Given the description of an element on the screen output the (x, y) to click on. 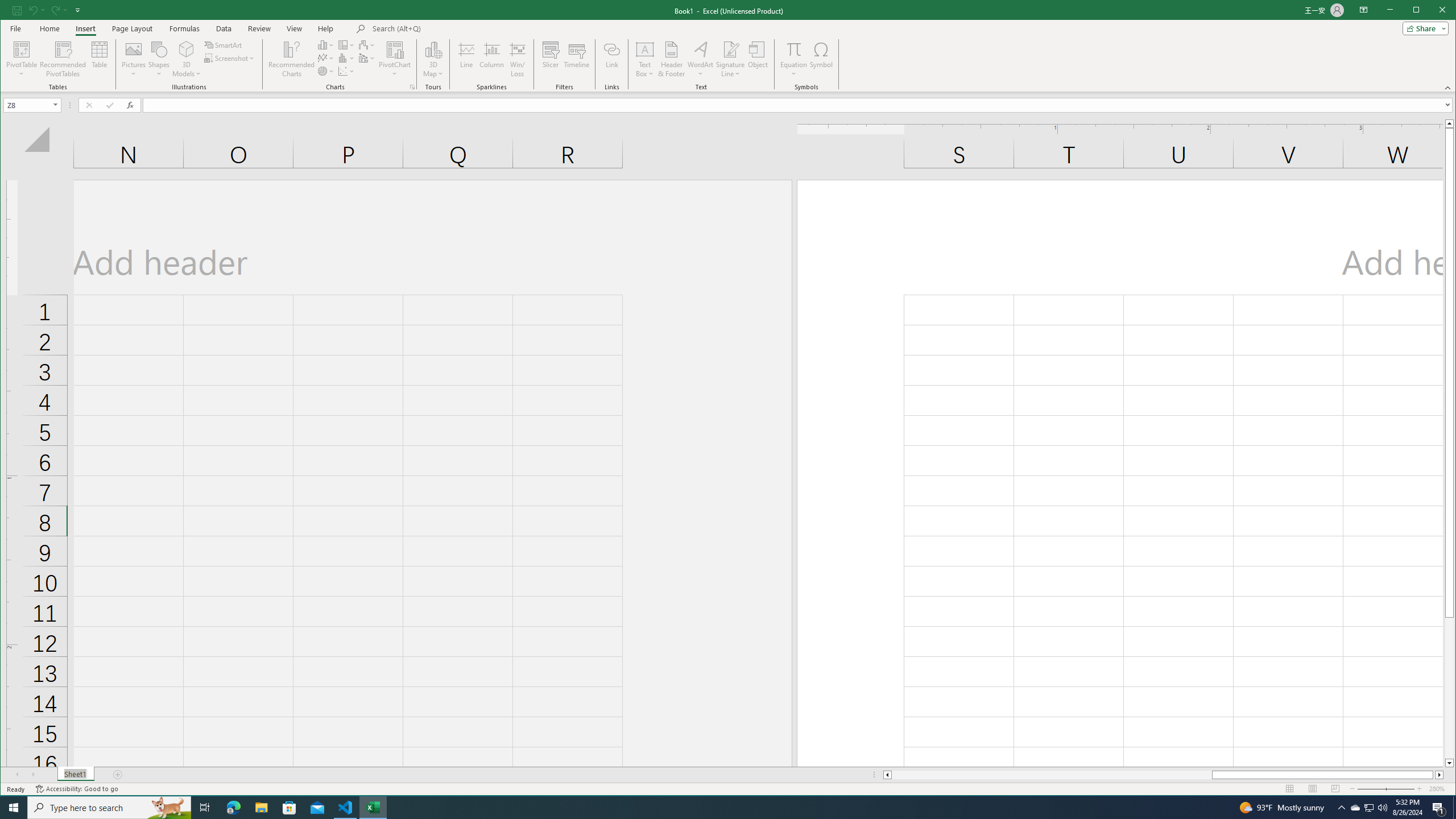
Symbol... (821, 59)
